Given the description of an element on the screen output the (x, y) to click on. 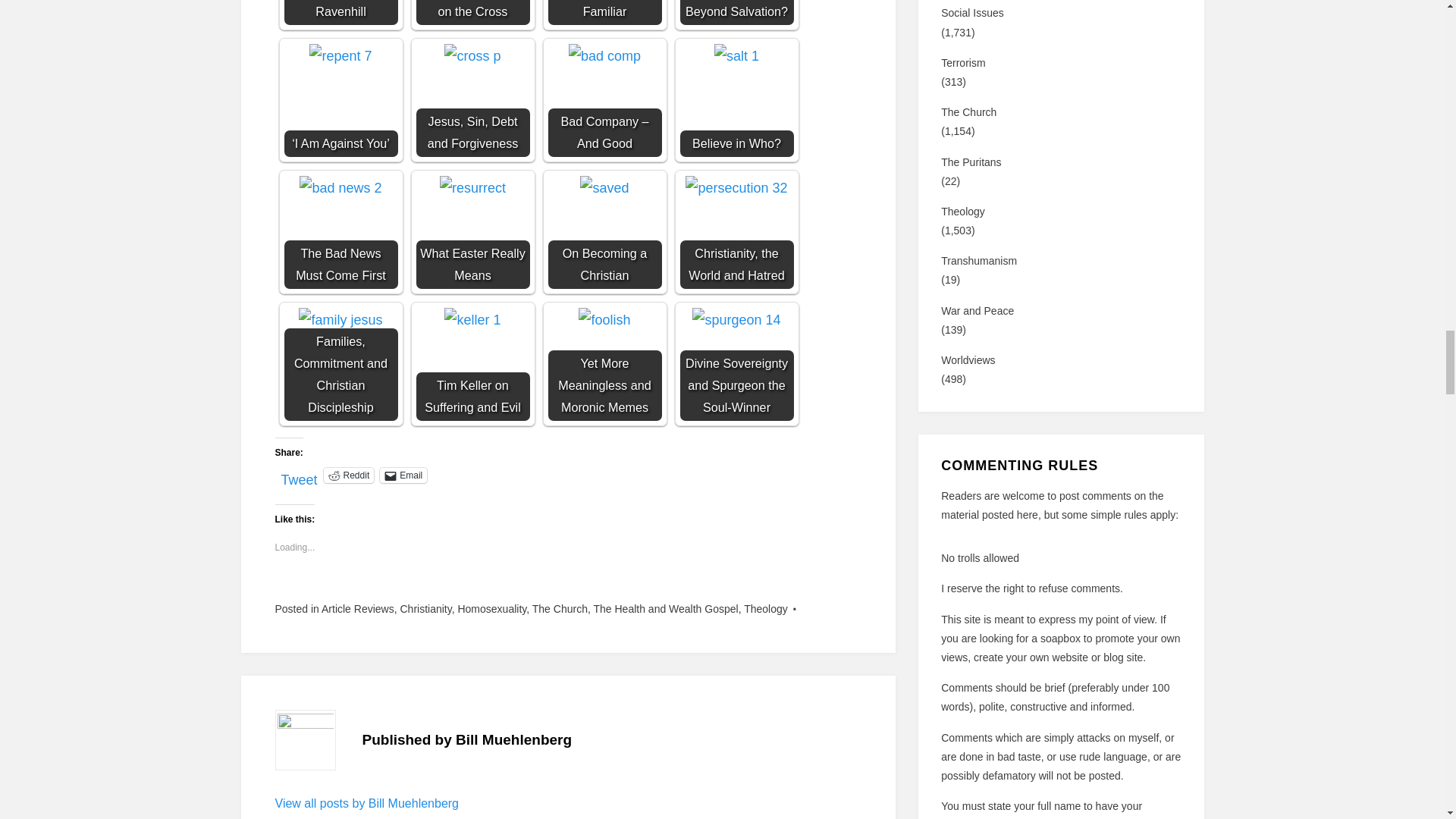
Reddit (348, 475)
Divine Sovereignty and Spurgeon the Soul-Winner (736, 363)
Jesus, Sin, Debt and Forgiveness (471, 100)
Families, Commitment and Christian Discipleship (340, 363)
Homosexuality (491, 608)
Article Reviews (357, 608)
Jesus, Sin, Debt and Forgiveness (472, 55)
45 Powerful Quotes on the Cross (471, 12)
What Easter Really Means (472, 187)
Tim Keller on Suffering and Evil (471, 363)
